Given the description of an element on the screen output the (x, y) to click on. 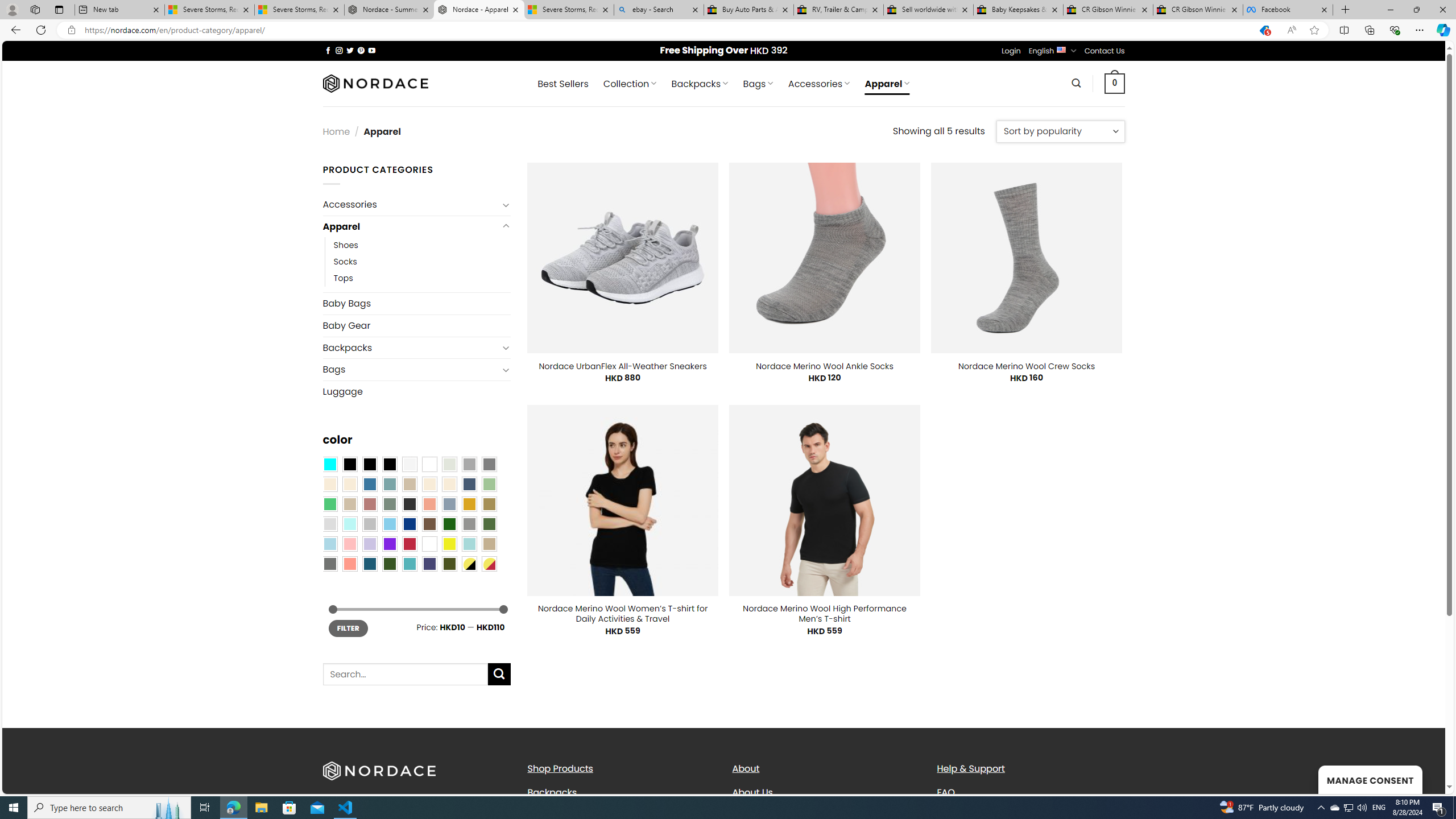
Follow on YouTube (371, 49)
  0   (1115, 83)
Pink (349, 543)
Bags (410, 369)
Pearly White (408, 464)
Login (1010, 50)
Backpacks (551, 792)
  Best Sellers (562, 83)
Luggage (416, 391)
Backpacks (620, 792)
Aqua (468, 543)
